Given the description of an element on the screen output the (x, y) to click on. 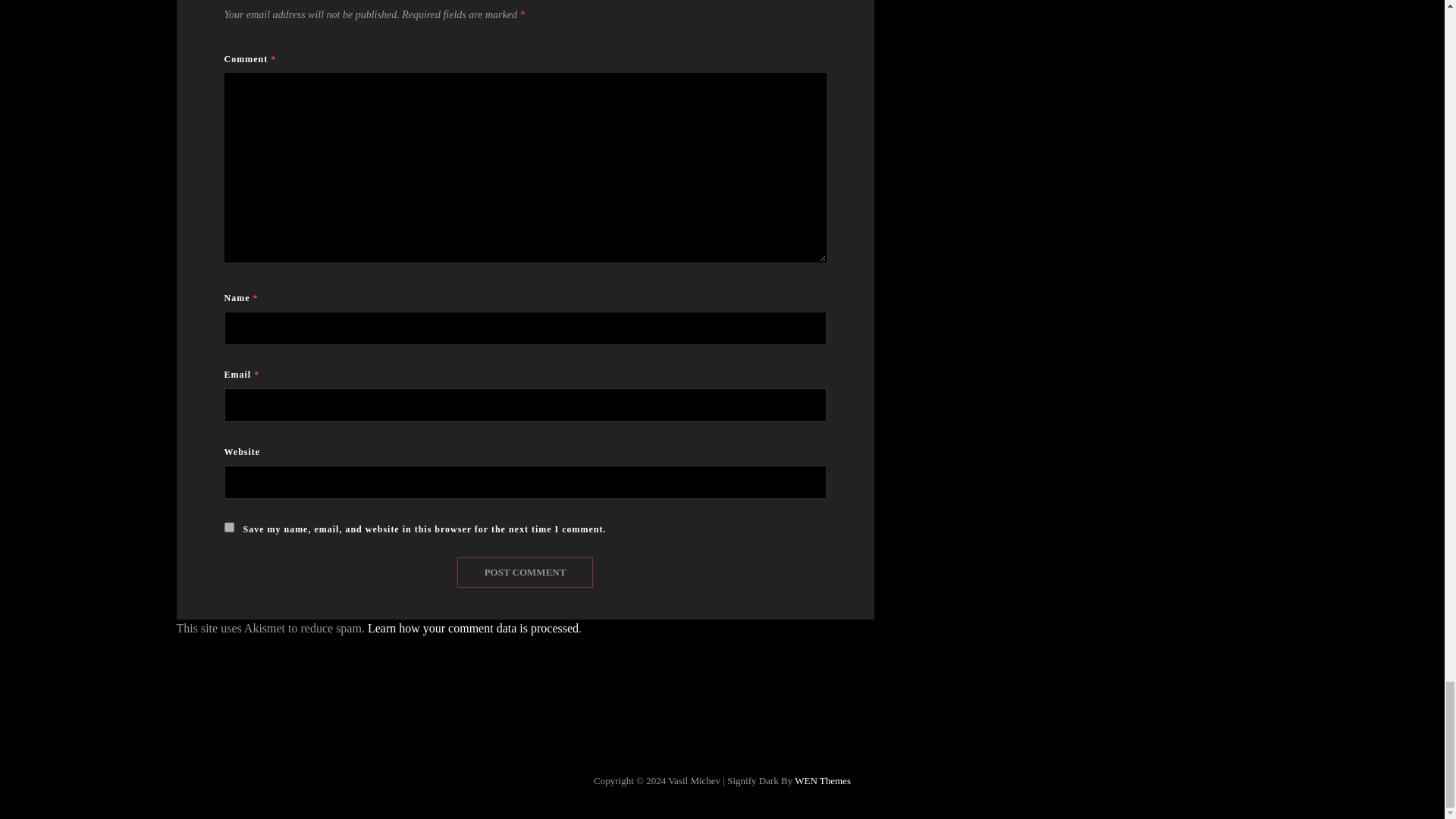
Learn how your comment data is processed (473, 627)
yes (229, 527)
Post Comment (525, 572)
Post Comment (525, 572)
